Given the description of an element on the screen output the (x, y) to click on. 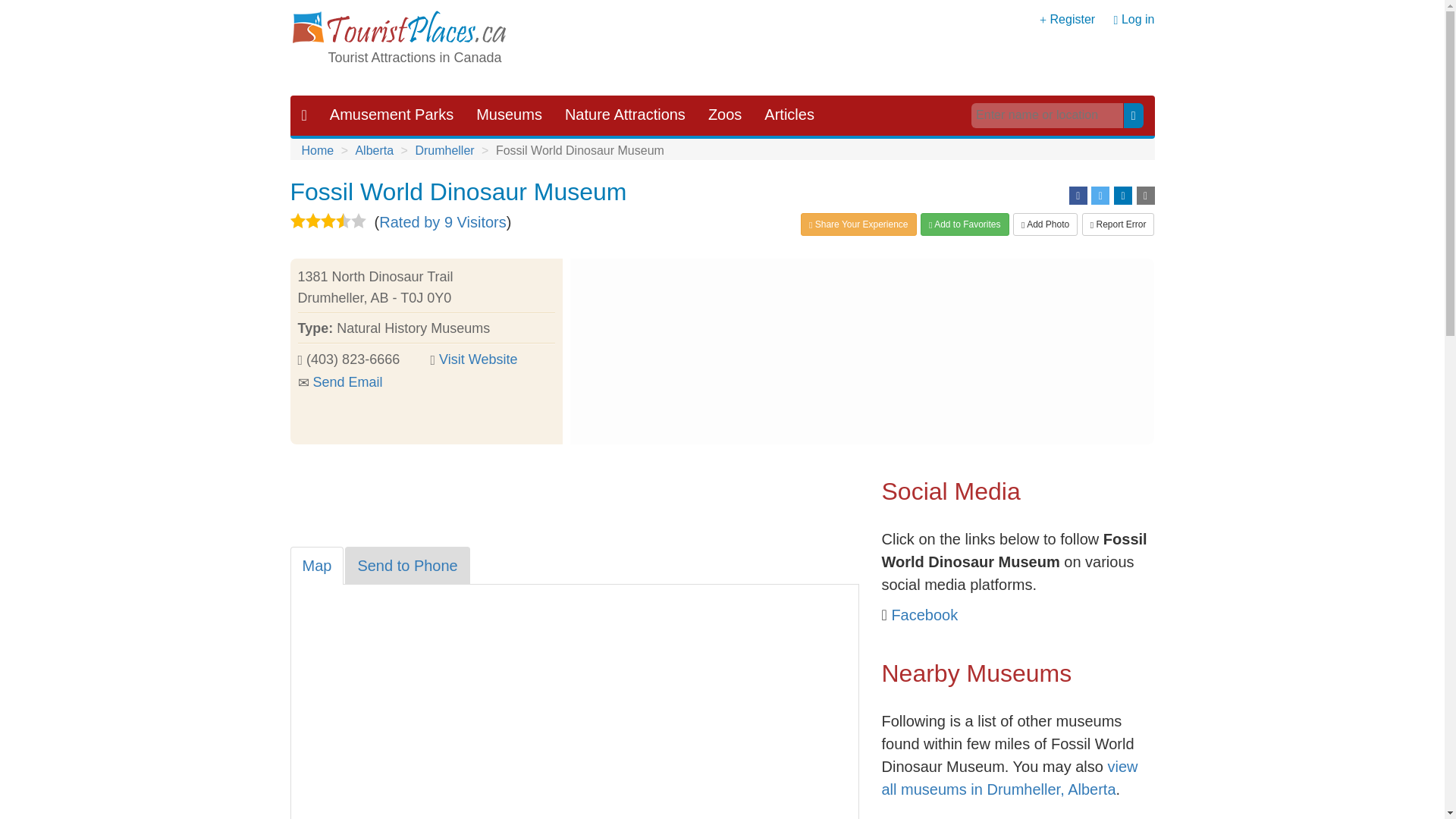
Report Error (1117, 223)
Map (316, 565)
Register (1072, 19)
www.touristplaces.ca (397, 29)
Tourist Attractions in Canada (413, 57)
Zoos (724, 114)
Send email to Fossil World Dinosaur Museum (347, 381)
Tourist Attractions in Canada (413, 57)
